Given the description of an element on the screen output the (x, y) to click on. 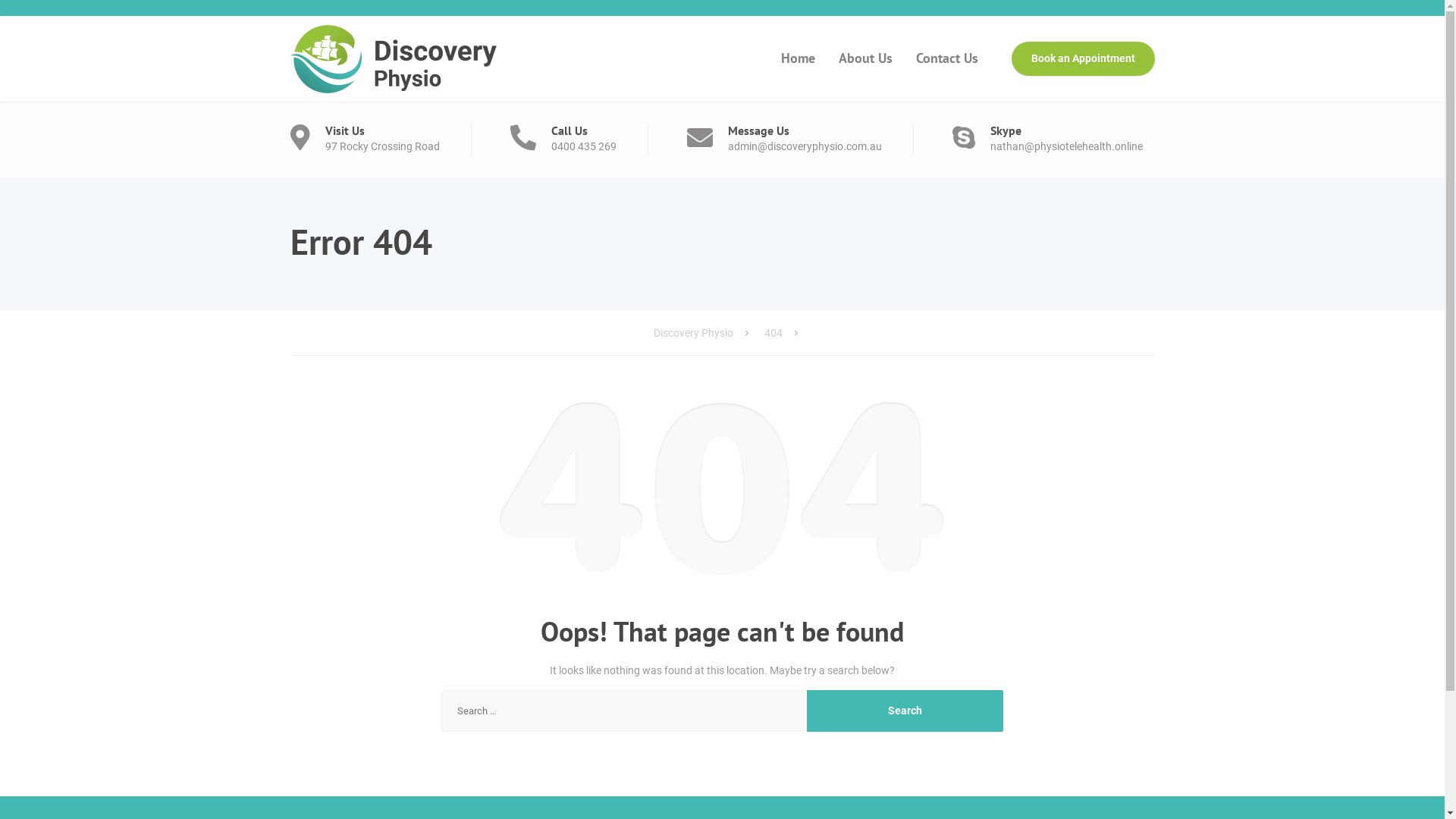
Search Element type: text (904, 710)
Book an Appointment Element type: text (1082, 58)
Discovery Physio Element type: text (708, 332)
Contact Us Element type: text (946, 58)
Home Element type: text (797, 58)
Discovery Physio Element type: hover (392, 58)
About Us Element type: text (865, 58)
404 Element type: text (788, 332)
